Given the description of an element on the screen output the (x, y) to click on. 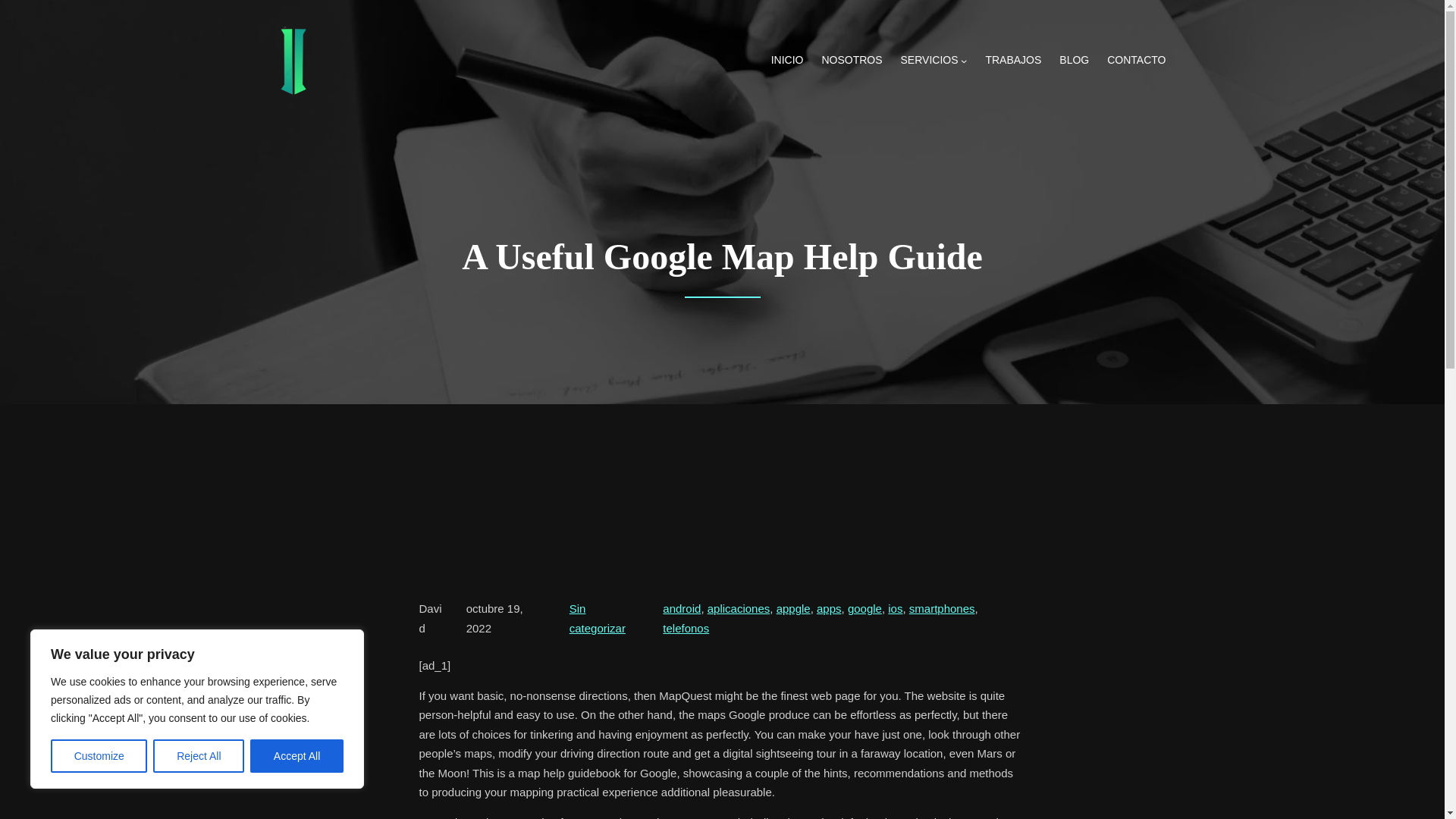
SERVICIOS (929, 60)
BLOG (1074, 60)
smartphones (941, 608)
NOSOTROS (851, 60)
CONTACTO (1136, 60)
INICIO (787, 60)
Reject All (198, 756)
android (681, 608)
aplicaciones (738, 608)
google (864, 608)
Sin categorizar (597, 617)
Customize (98, 756)
Accept All (296, 756)
ios (895, 608)
TRABAJOS (1013, 60)
